Given the description of an element on the screen output the (x, y) to click on. 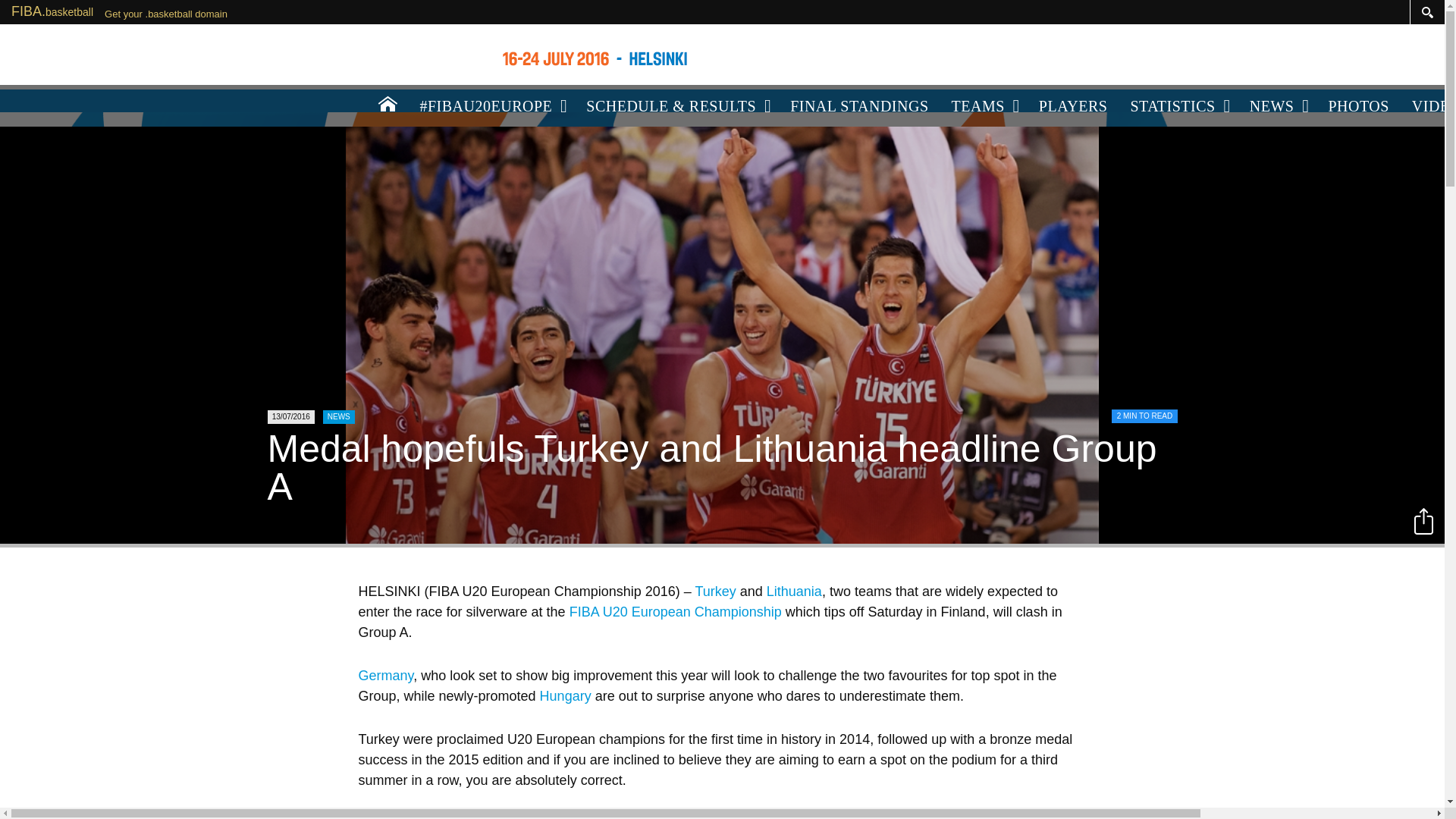
Get your .basketball domain (165, 13)
TEAMS (983, 105)
PLAYERS (1073, 105)
FINAL STANDINGS (858, 105)
FIBA.basketball (52, 11)
STATISTICS (1177, 105)
